Given the description of an element on the screen output the (x, y) to click on. 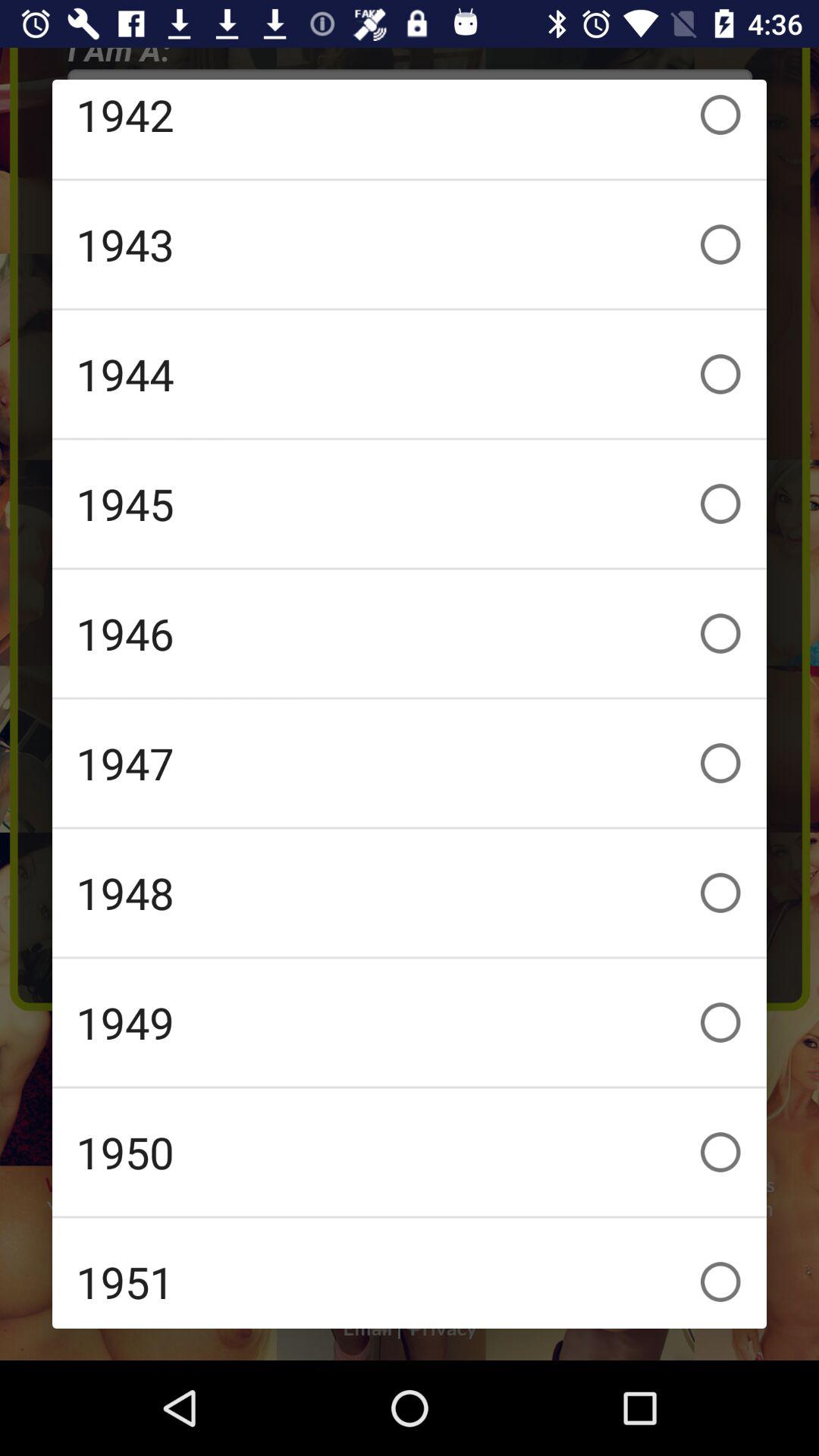
choose the item above 1944 icon (409, 244)
